Given the description of an element on the screen output the (x, y) to click on. 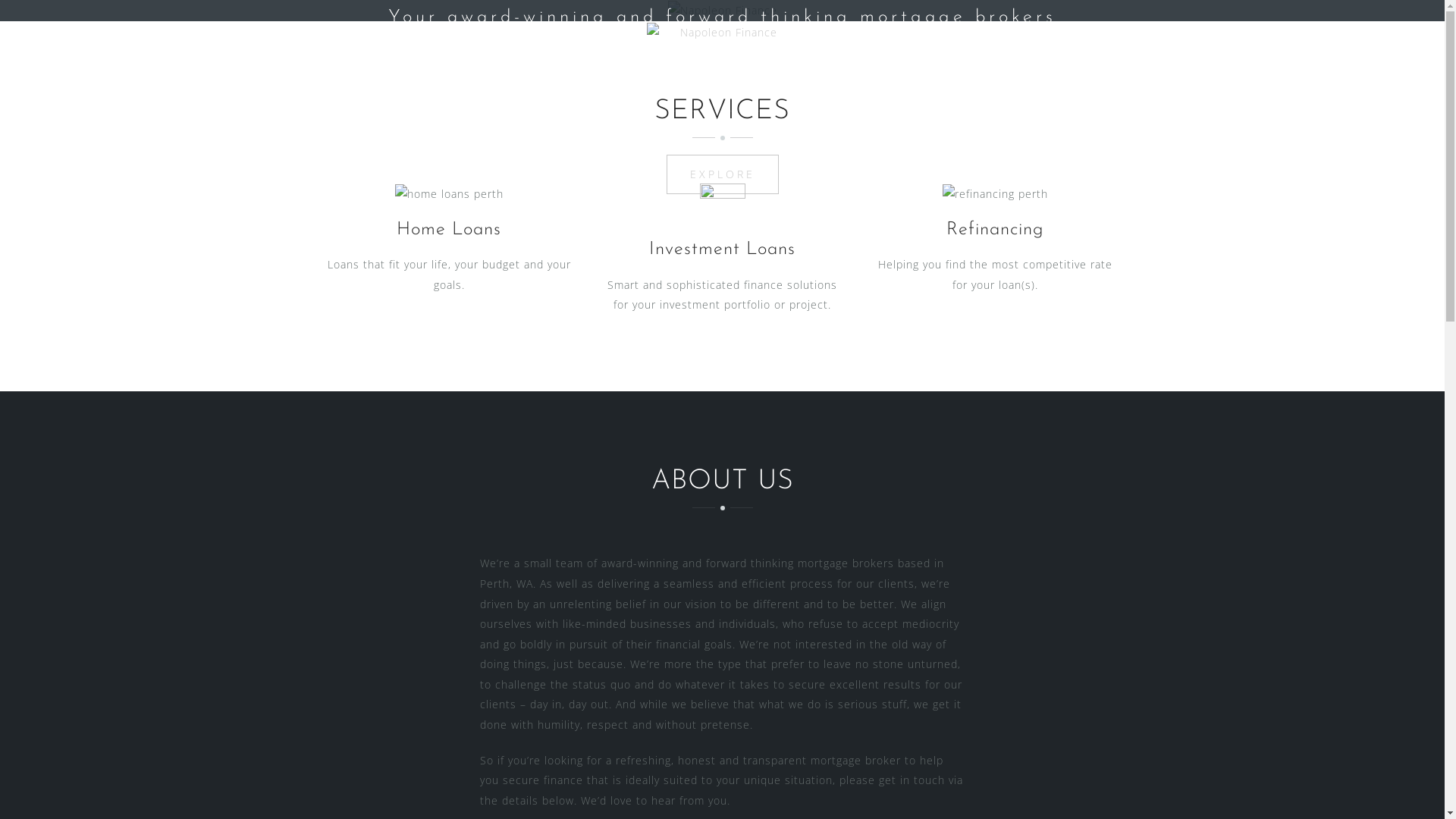
Contact Us Element type: text (846, 78)
Our Team Element type: text (662, 78)
Refinancing Element type: text (995, 229)
Home Loans Element type: text (448, 229)
Investment Loans Element type: text (722, 249)
Services Element type: text (752, 78)
Home Element type: text (581, 78)
EXPLORE Element type: text (721, 174)
